Given the description of an element on the screen output the (x, y) to click on. 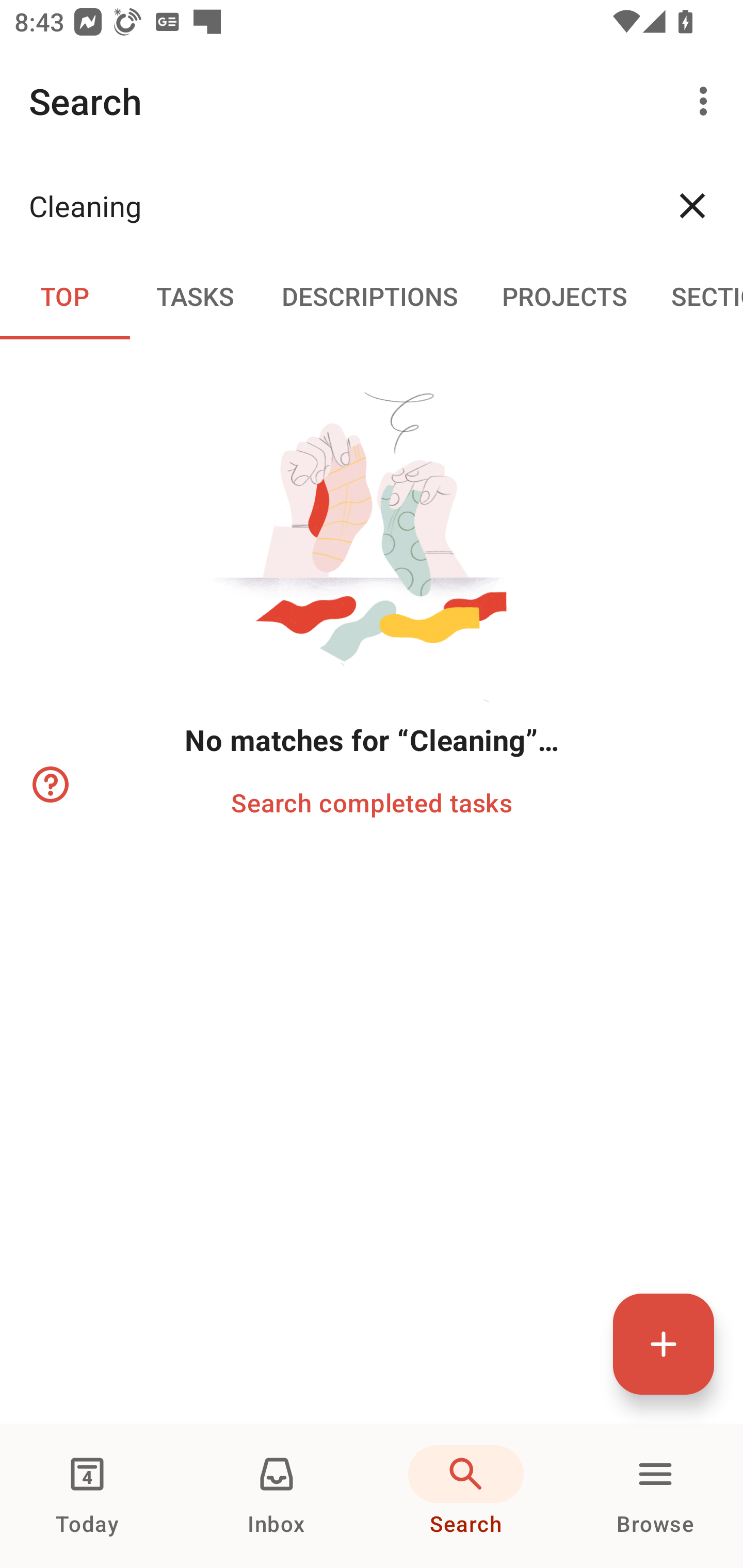
Search More options (371, 100)
More options (706, 101)
Cleaning (335, 205)
Clear (692, 205)
Tasks TASKS (195, 295)
Descriptions DESCRIPTIONS (370, 295)
Projects PROJECTS (564, 295)
Learn how to refine your search (48, 784)
Search completed tasks (371, 801)
Quick add (663, 1343)
Today (87, 1495)
Inbox (276, 1495)
Browse (655, 1495)
